Given the description of an element on the screen output the (x, y) to click on. 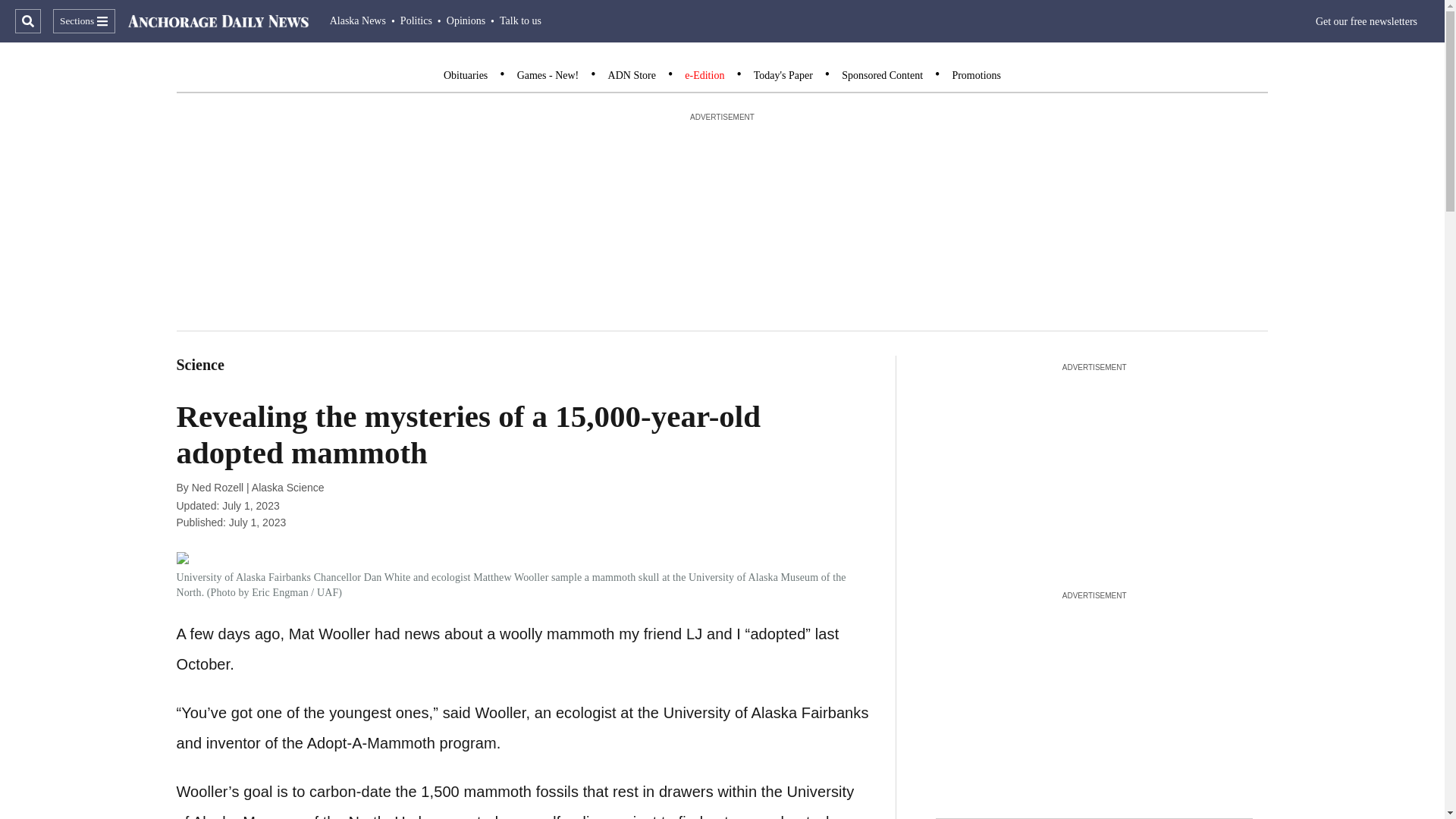
Get our free newsletters (1366, 21)
Alaska News (357, 20)
Sections (83, 21)
ADN Logo (218, 20)
Politics (416, 20)
Opinions (465, 20)
